Given the description of an element on the screen output the (x, y) to click on. 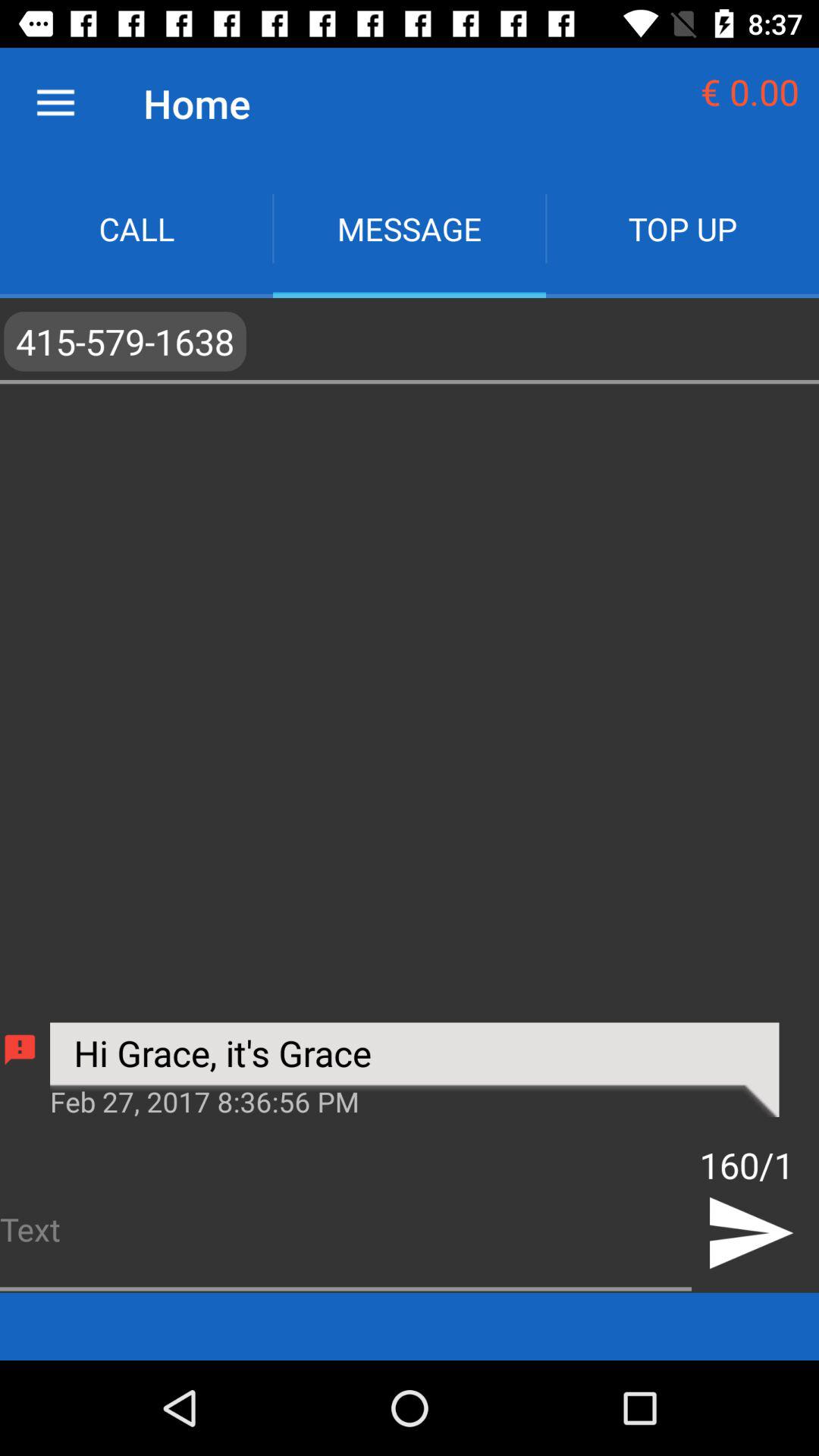
turn off the icon to the left of the message icon (136, 228)
